Given the description of an element on the screen output the (x, y) to click on. 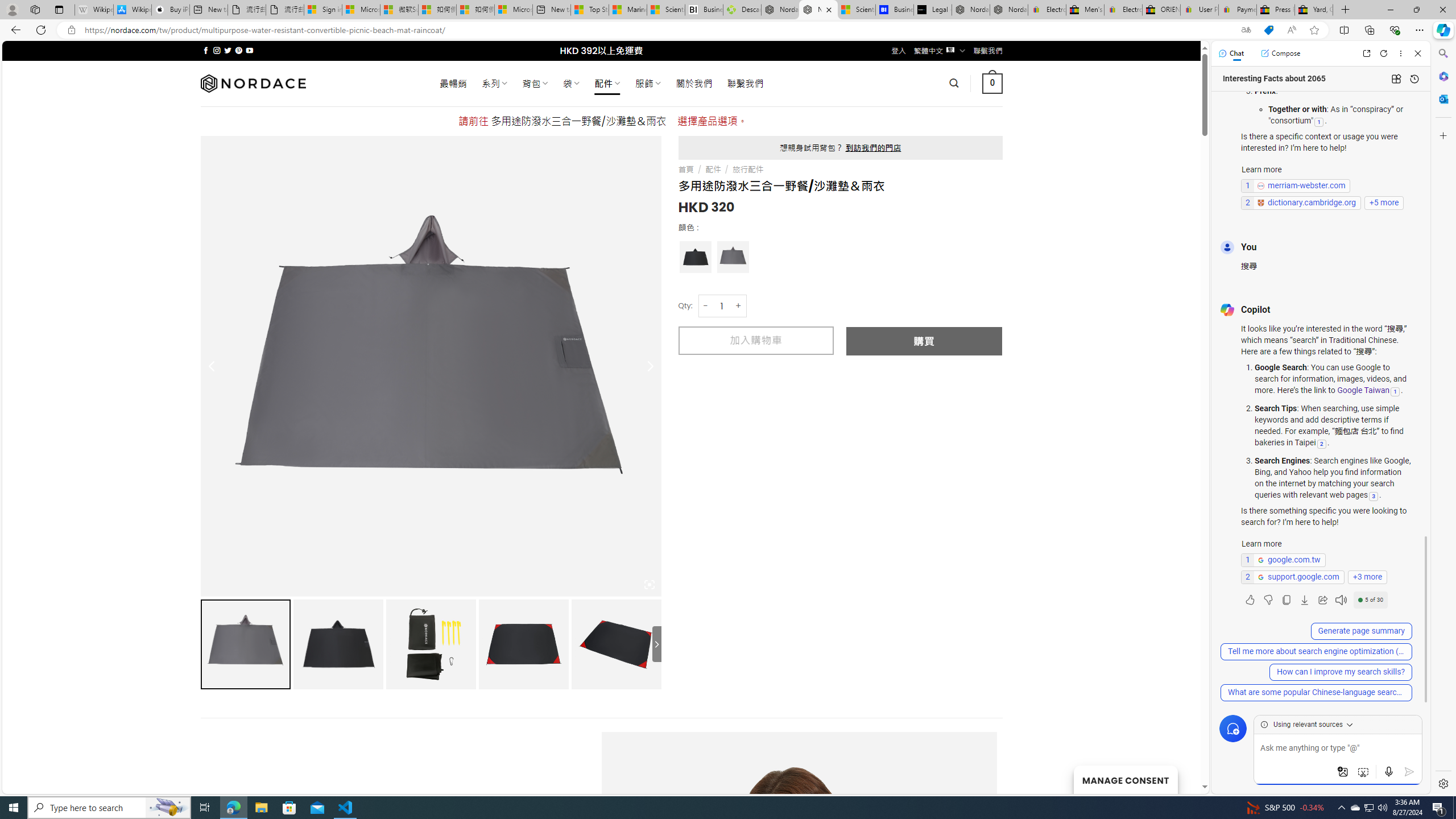
Compose (1280, 52)
+ (738, 305)
